Given the description of an element on the screen output the (x, y) to click on. 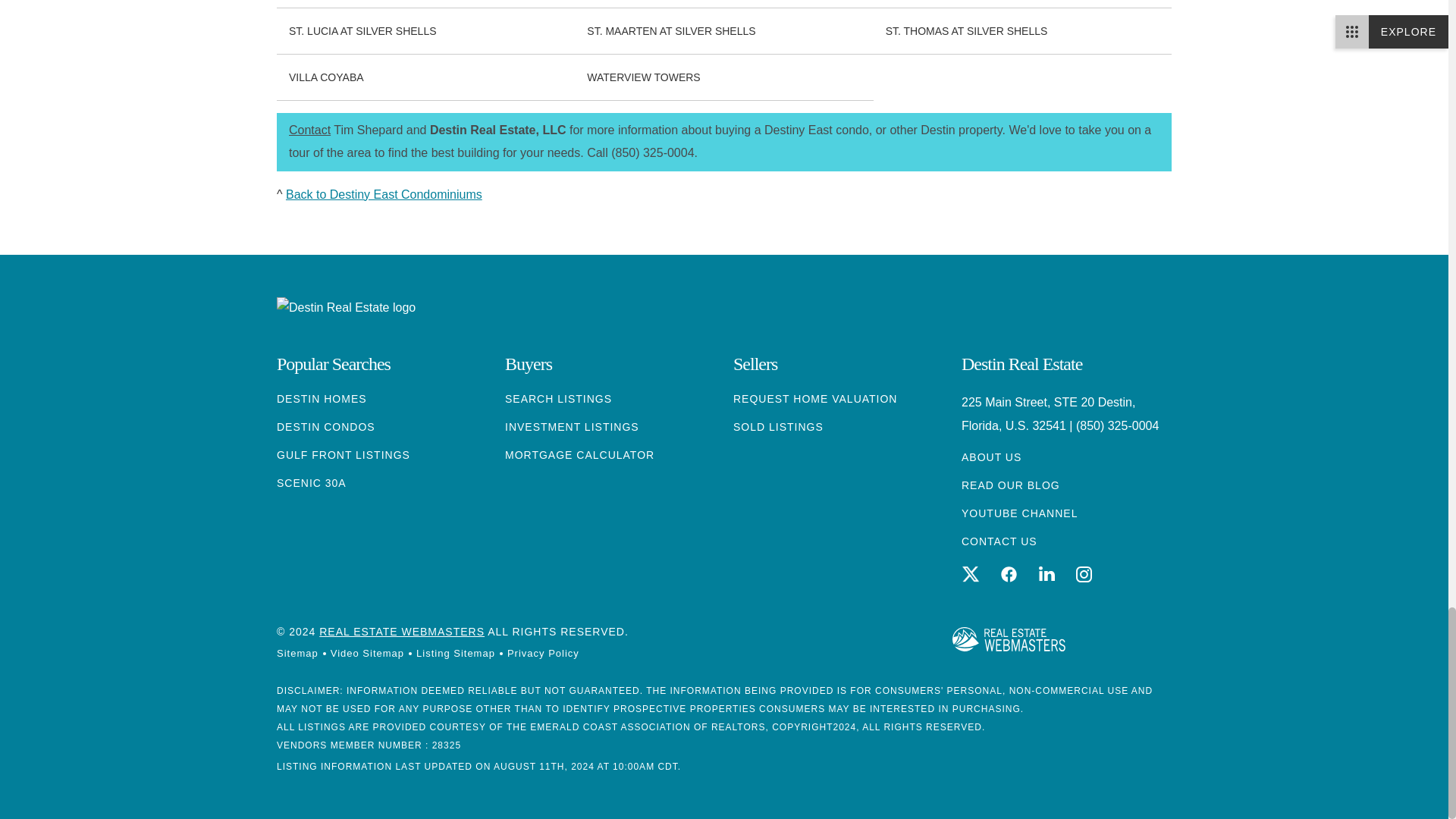
LINKEDIN FOR DESTIN REAL ESTATE (1046, 574)
Find us on Facebook (1008, 573)
FACEBOOK FOR DESTIN REAL ESTATE (1008, 574)
Find us on Instagram (1083, 573)
